Given the description of an element on the screen output the (x, y) to click on. 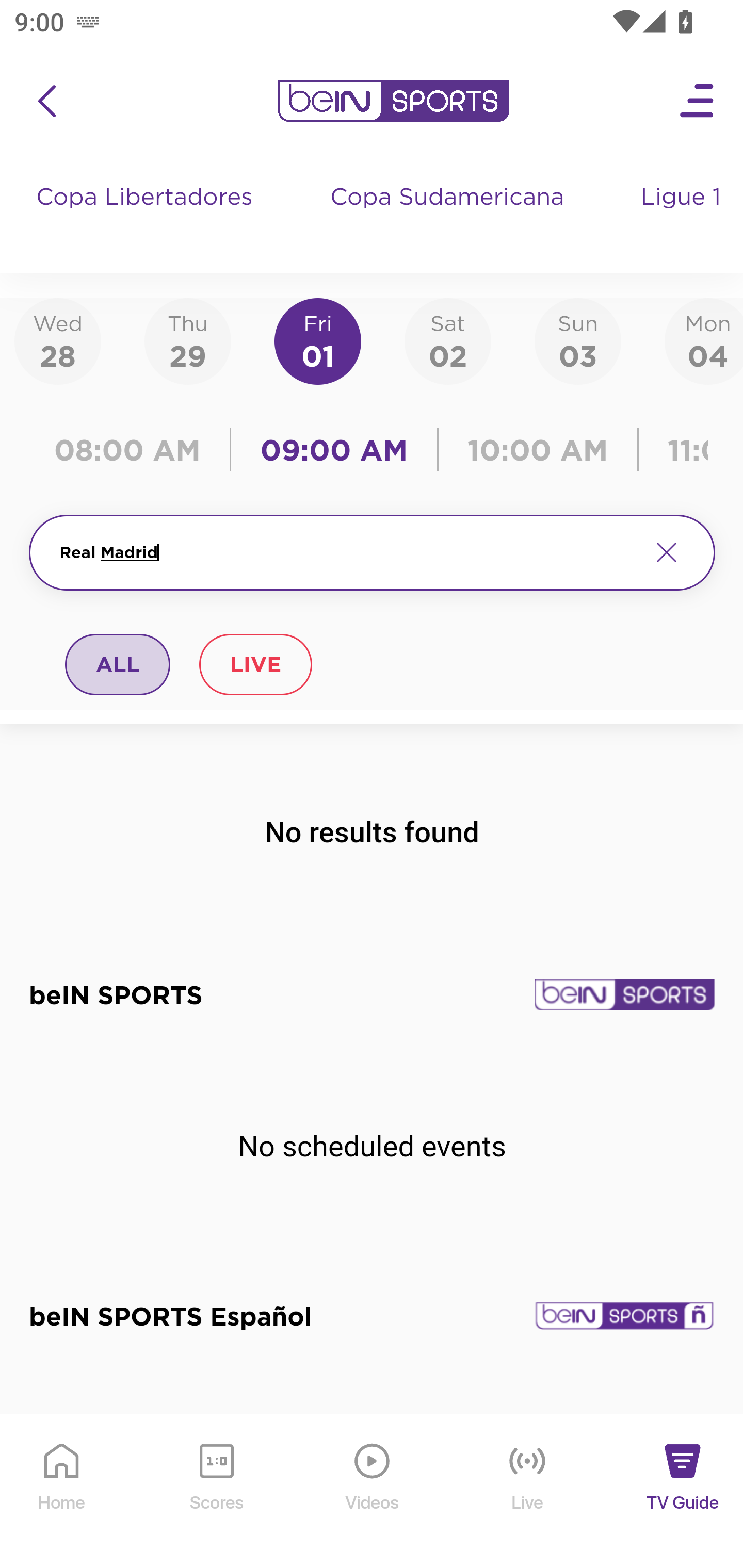
en-us?platform=mobile_android bein logo (392, 101)
icon back (46, 101)
Open Menu Icon (697, 101)
Copa Libertadores (146, 216)
Copa Sudamericana (448, 216)
Ligue 1 (682, 216)
Wed28 (58, 340)
Thu29 (187, 340)
Fri01 (318, 340)
Sat02 (447, 340)
Sun03 (578, 340)
Mon04 (703, 340)
08:00 AM (134, 449)
09:00 AM (334, 449)
10:00 AM (537, 449)
Real Madrid (346, 552)
ALL (118, 663)
LIVE (255, 663)
Home Home Icon Home (61, 1491)
Scores Scores Icon Scores (216, 1491)
Videos Videos Icon Videos (372, 1491)
TV Guide TV Guide Icon TV Guide (682, 1491)
